Given the description of an element on the screen output the (x, y) to click on. 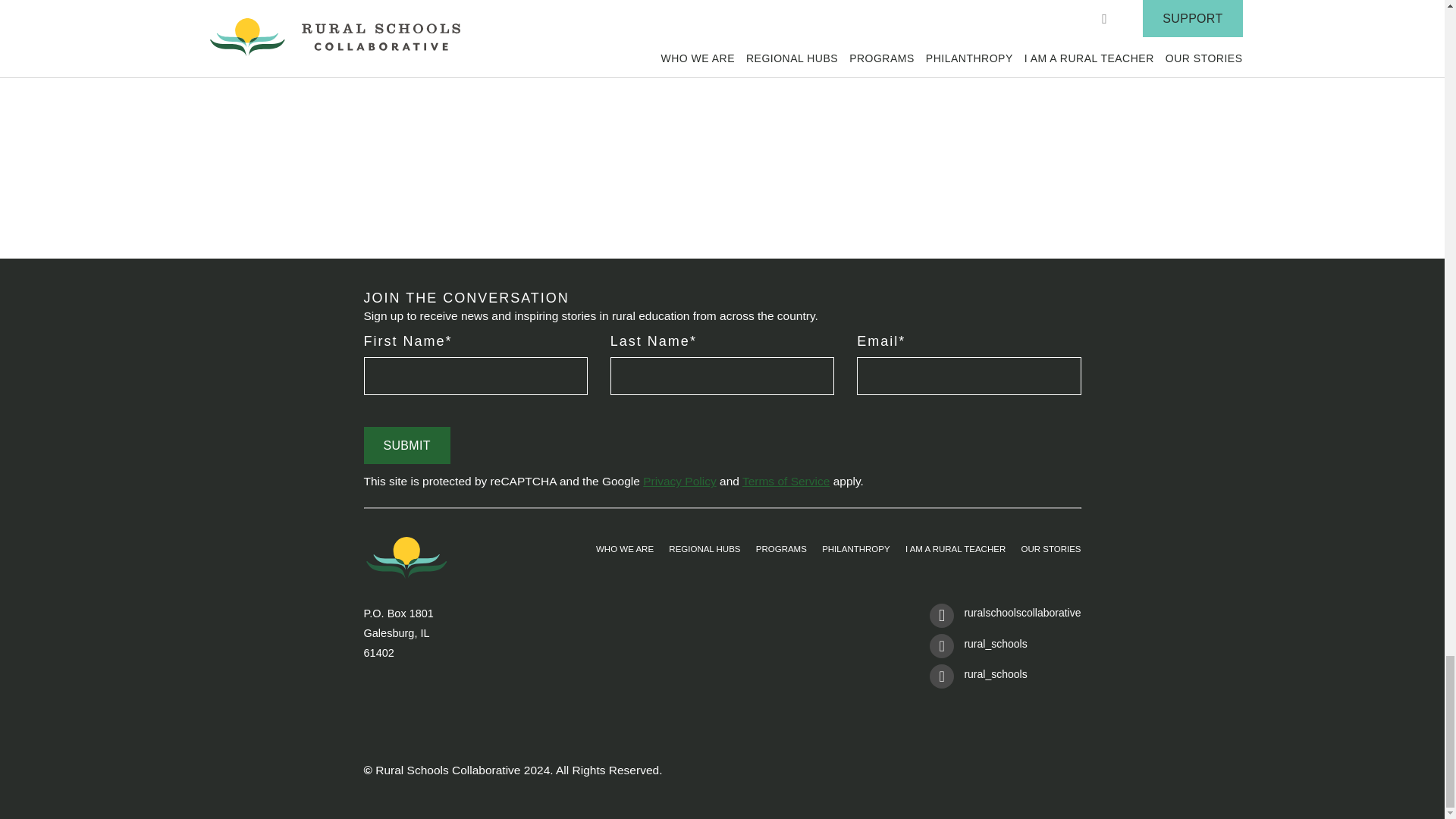
ruralschoolscollaborative (1005, 618)
